Given the description of an element on the screen output the (x, y) to click on. 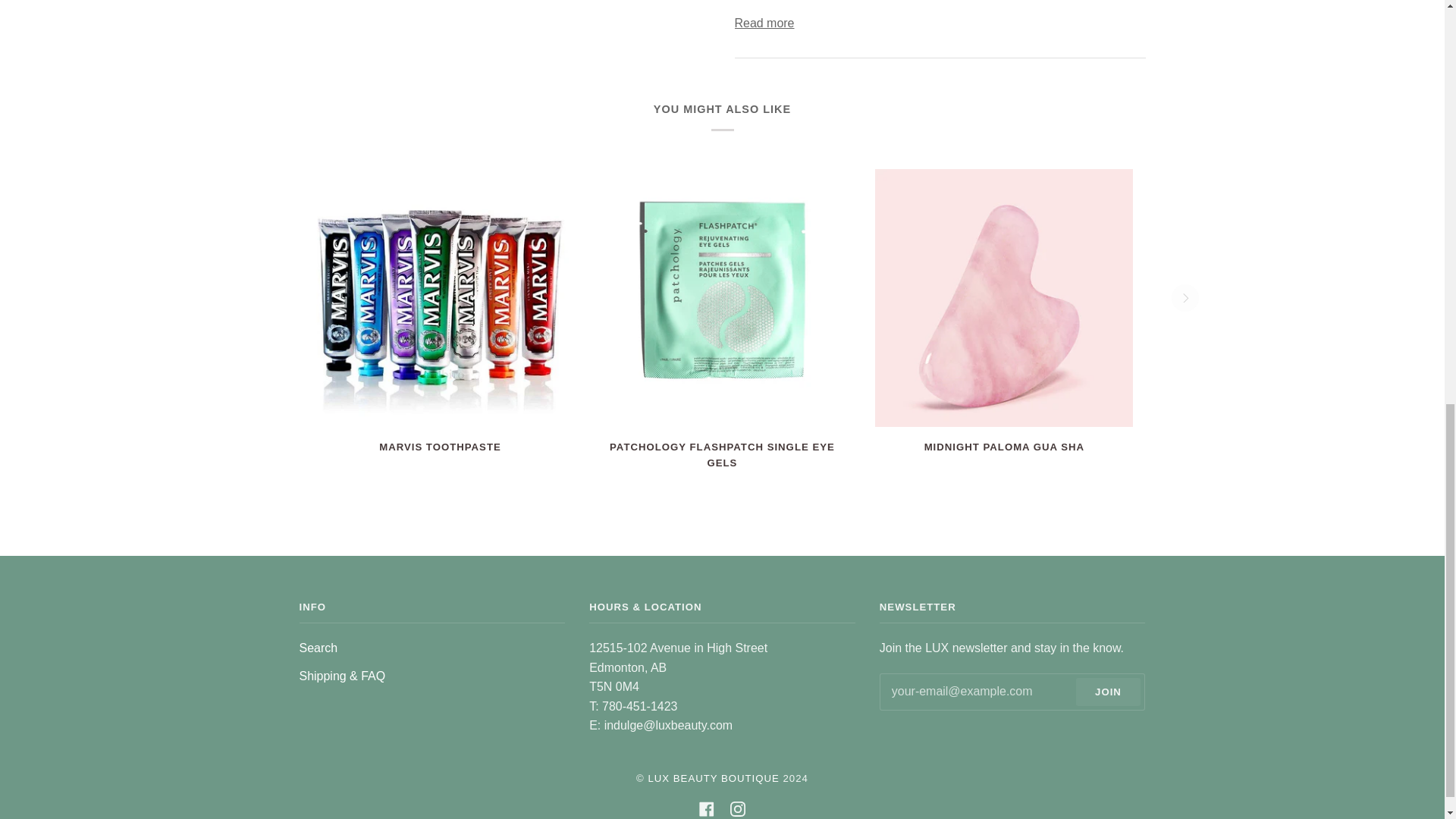
Facebook (706, 808)
Instagram (737, 808)
